Given the description of an element on the screen output the (x, y) to click on. 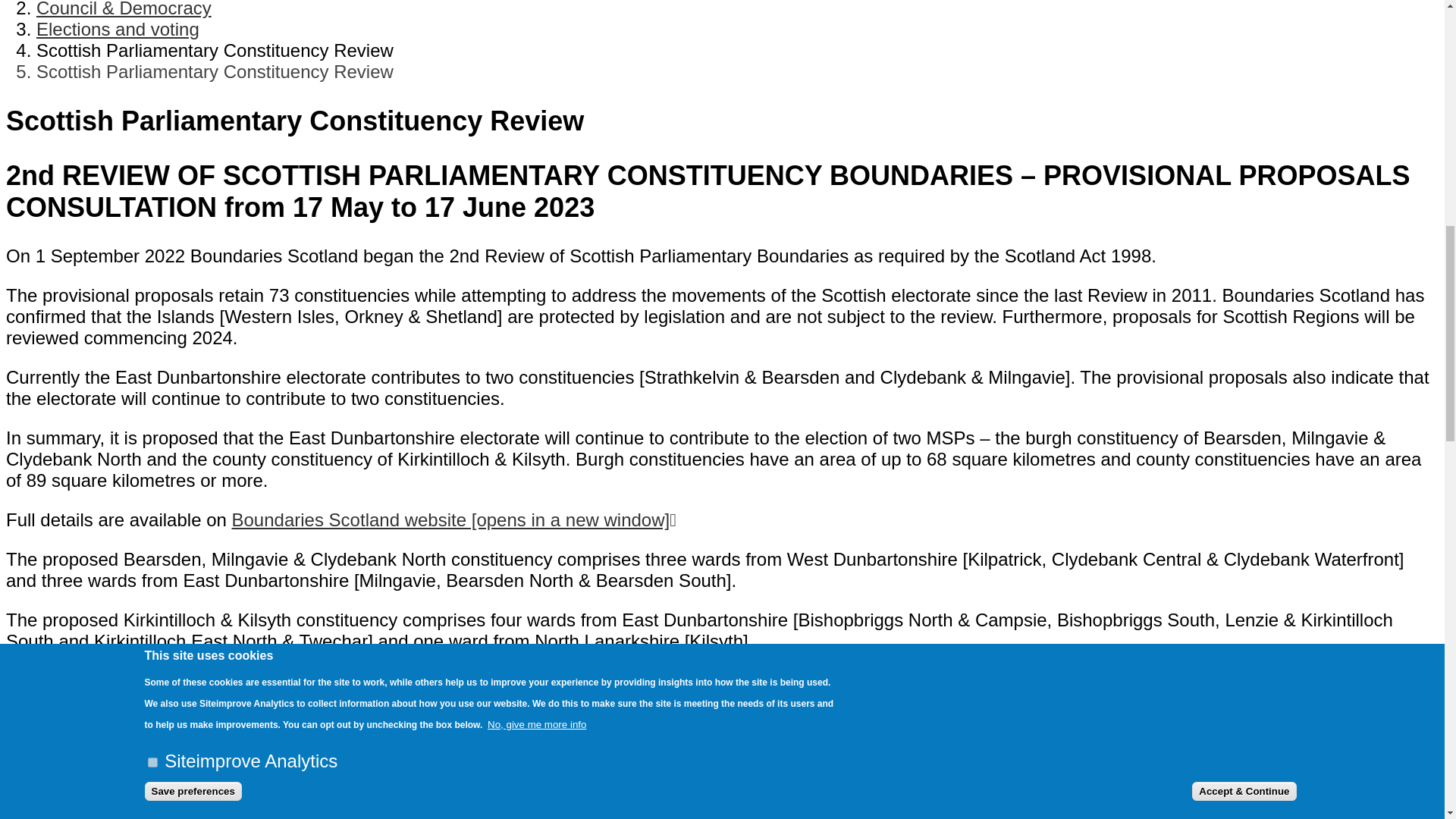
Council Services (123, 9)
